Given the description of an element on the screen output the (x, y) to click on. 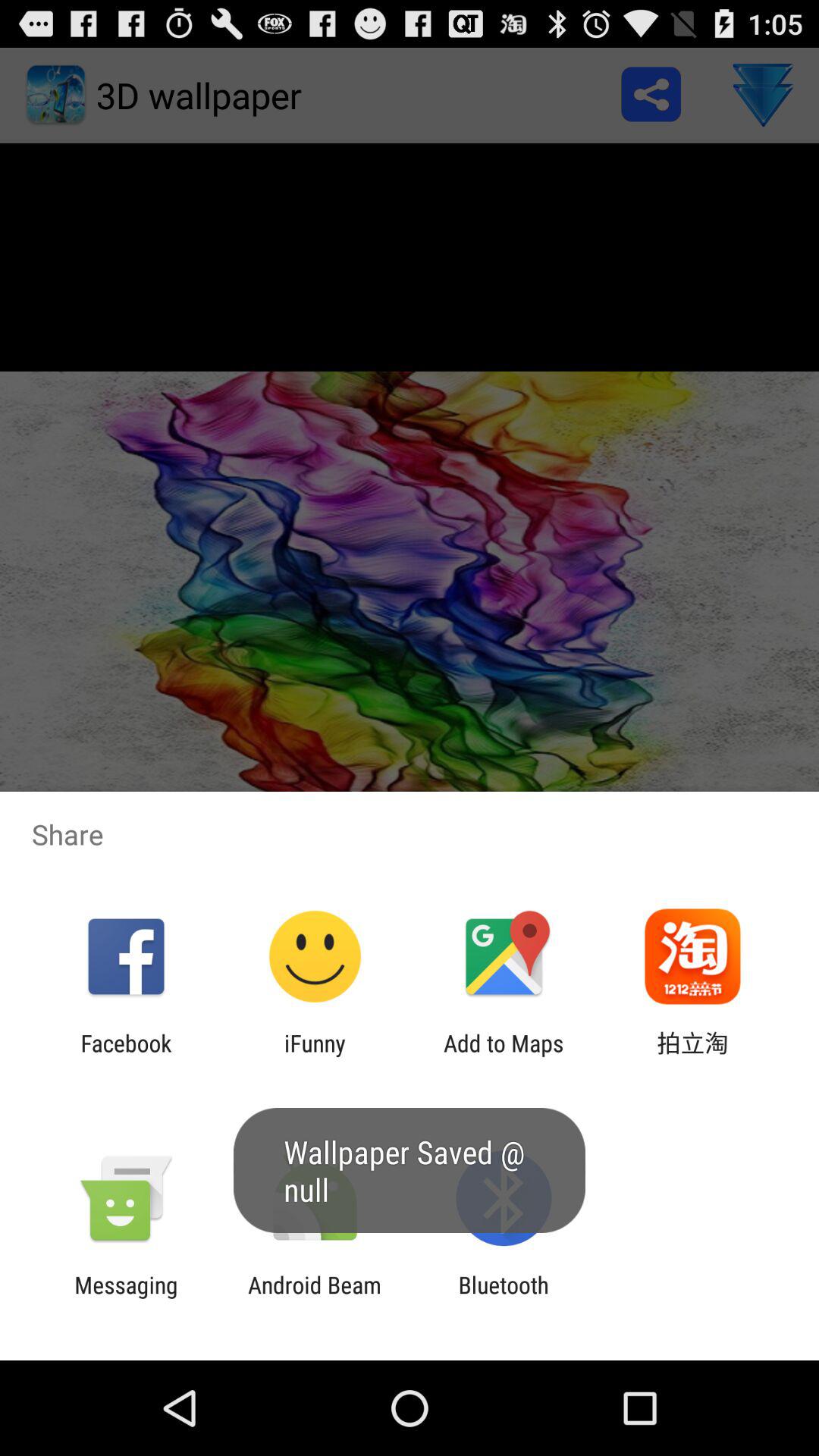
tap app next to the add to maps icon (314, 1056)
